Given the description of an element on the screen output the (x, y) to click on. 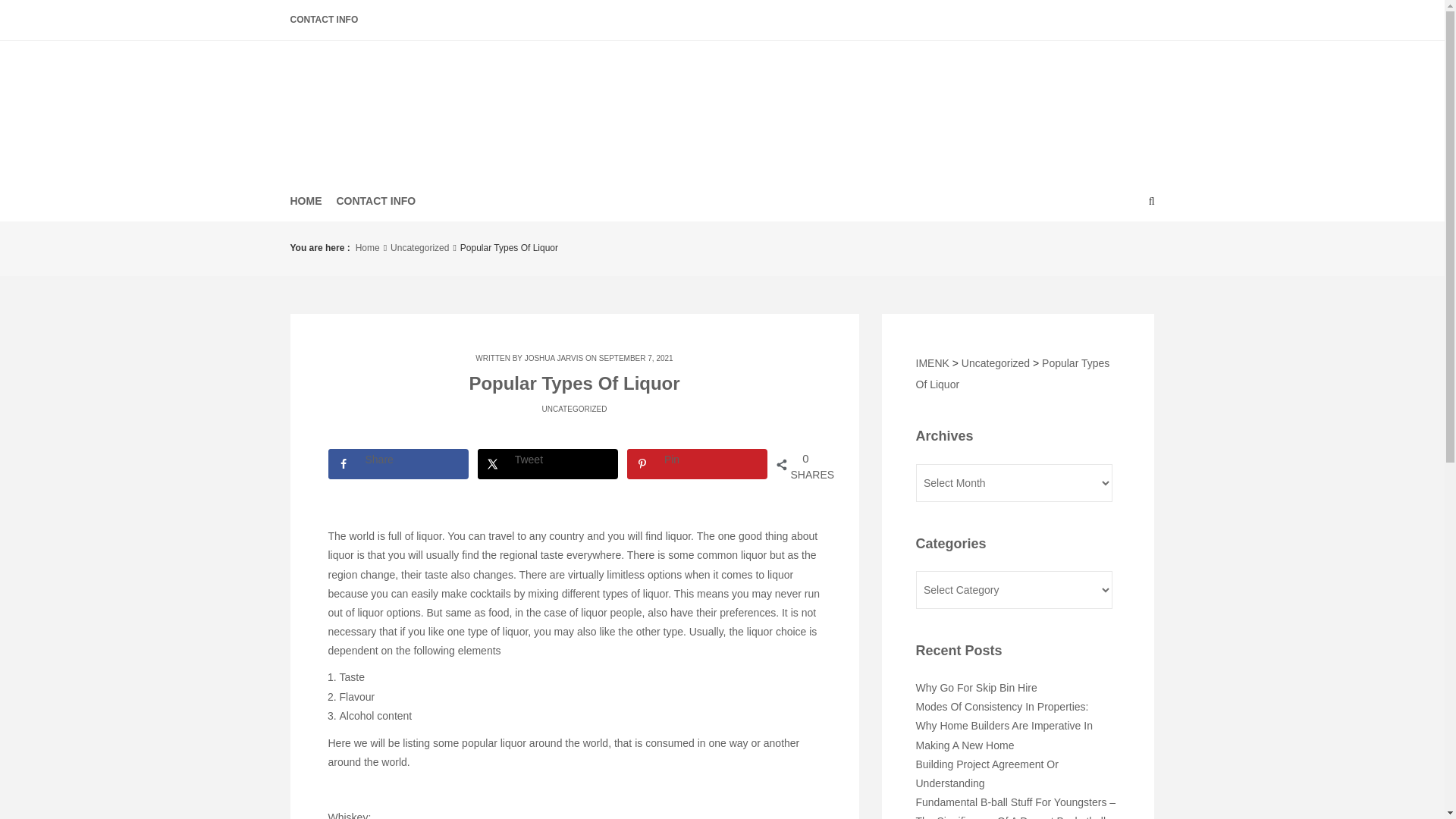
CONTACT INFO (332, 20)
Uncategorized (419, 248)
Pin (697, 463)
IMENK (721, 106)
CONTACT INFO (721, 106)
HOME (384, 200)
Why Home Builders Are Imperative In Making A New Home (314, 200)
Uncategorized (1004, 735)
Posts by Joshua Jarvis (994, 361)
